Given the description of an element on the screen output the (x, y) to click on. 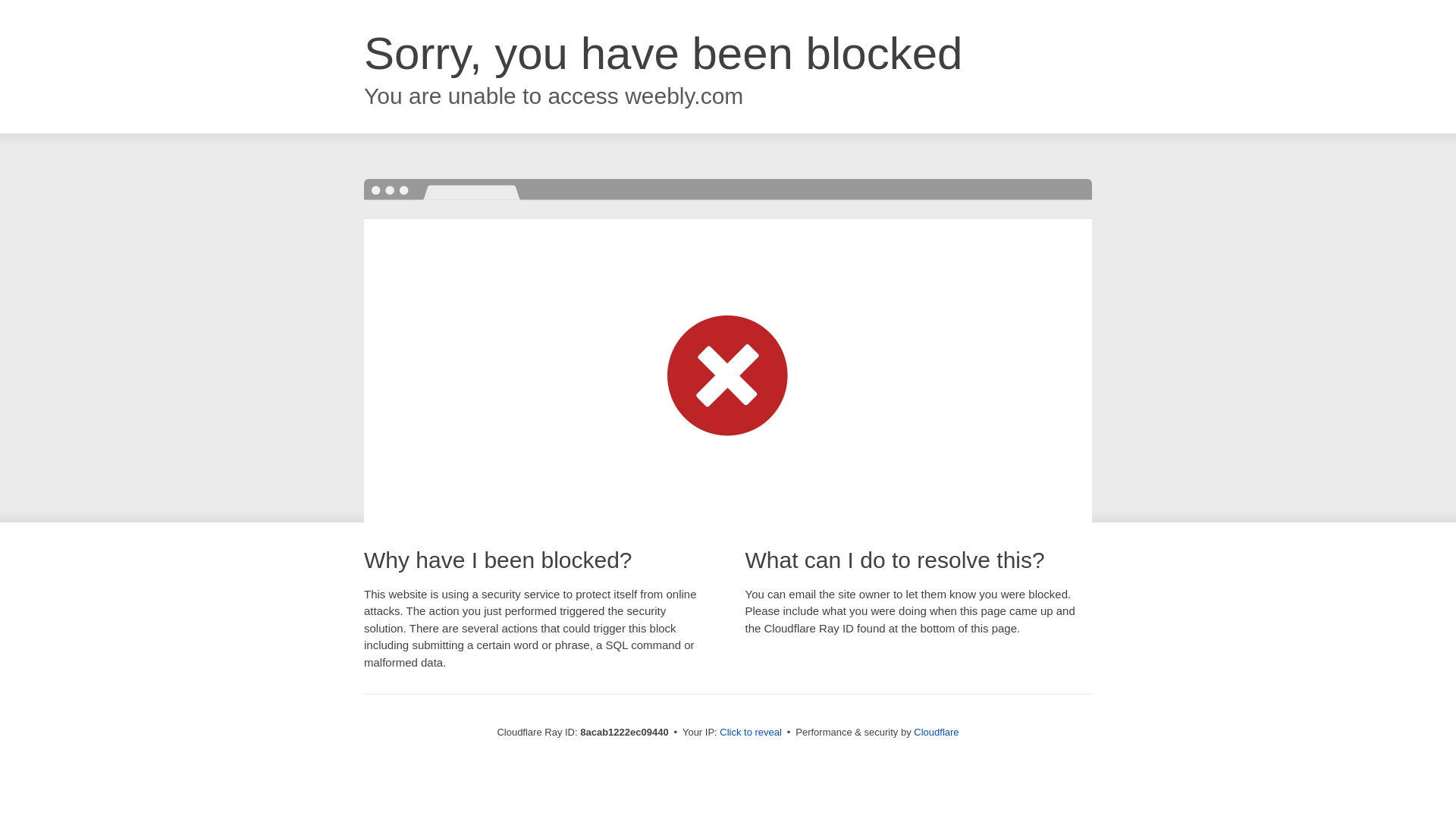
Cloudflare (936, 731)
Click to reveal (750, 732)
